Given the description of an element on the screen output the (x, y) to click on. 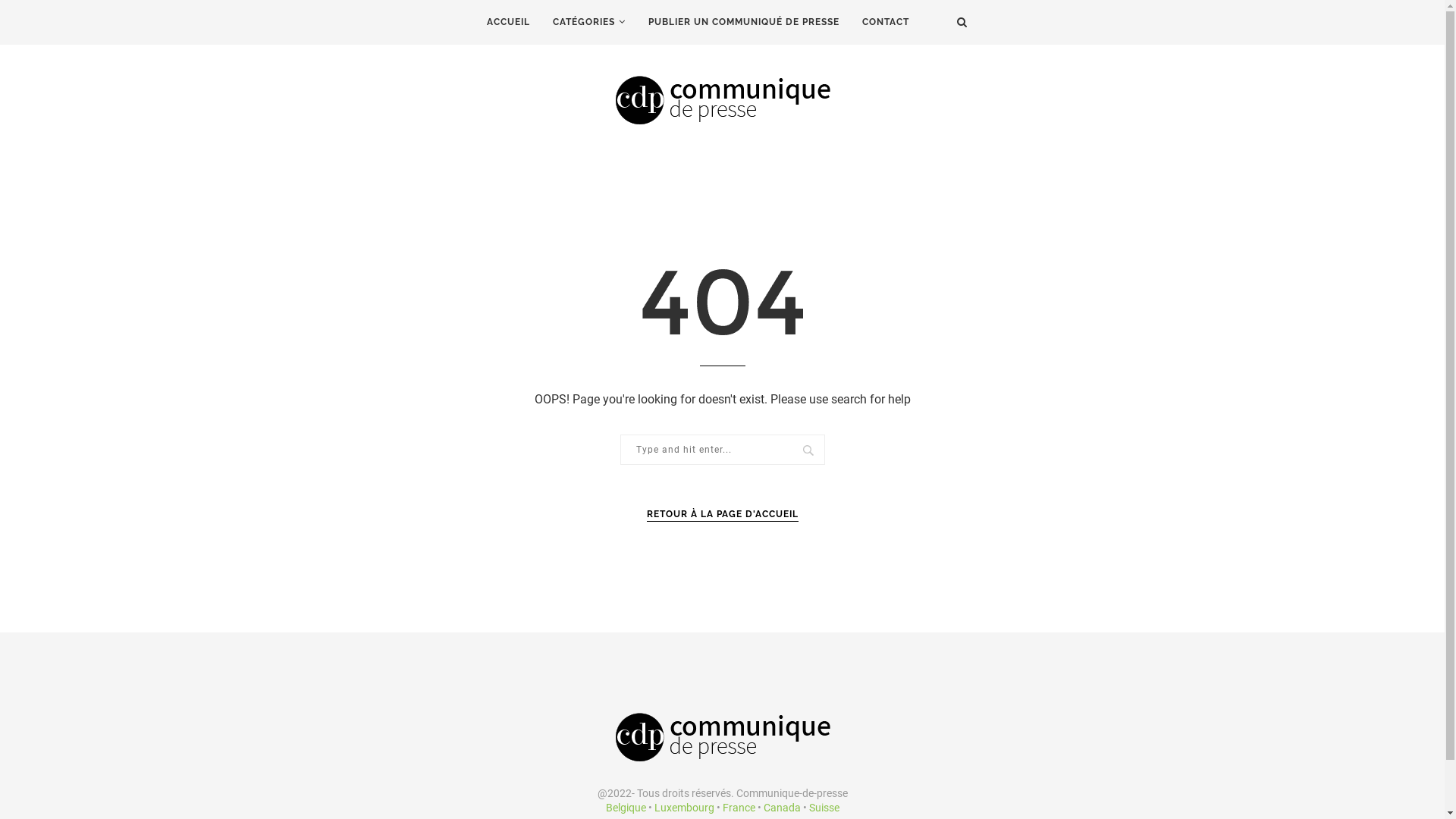
France Element type: text (737, 807)
Suisse Element type: text (823, 807)
CONTACT Element type: text (885, 22)
Belgique Element type: text (625, 807)
Canada Element type: text (781, 807)
ACCUEIL Element type: text (507, 22)
Luxembourg Element type: text (683, 807)
